Given the description of an element on the screen output the (x, y) to click on. 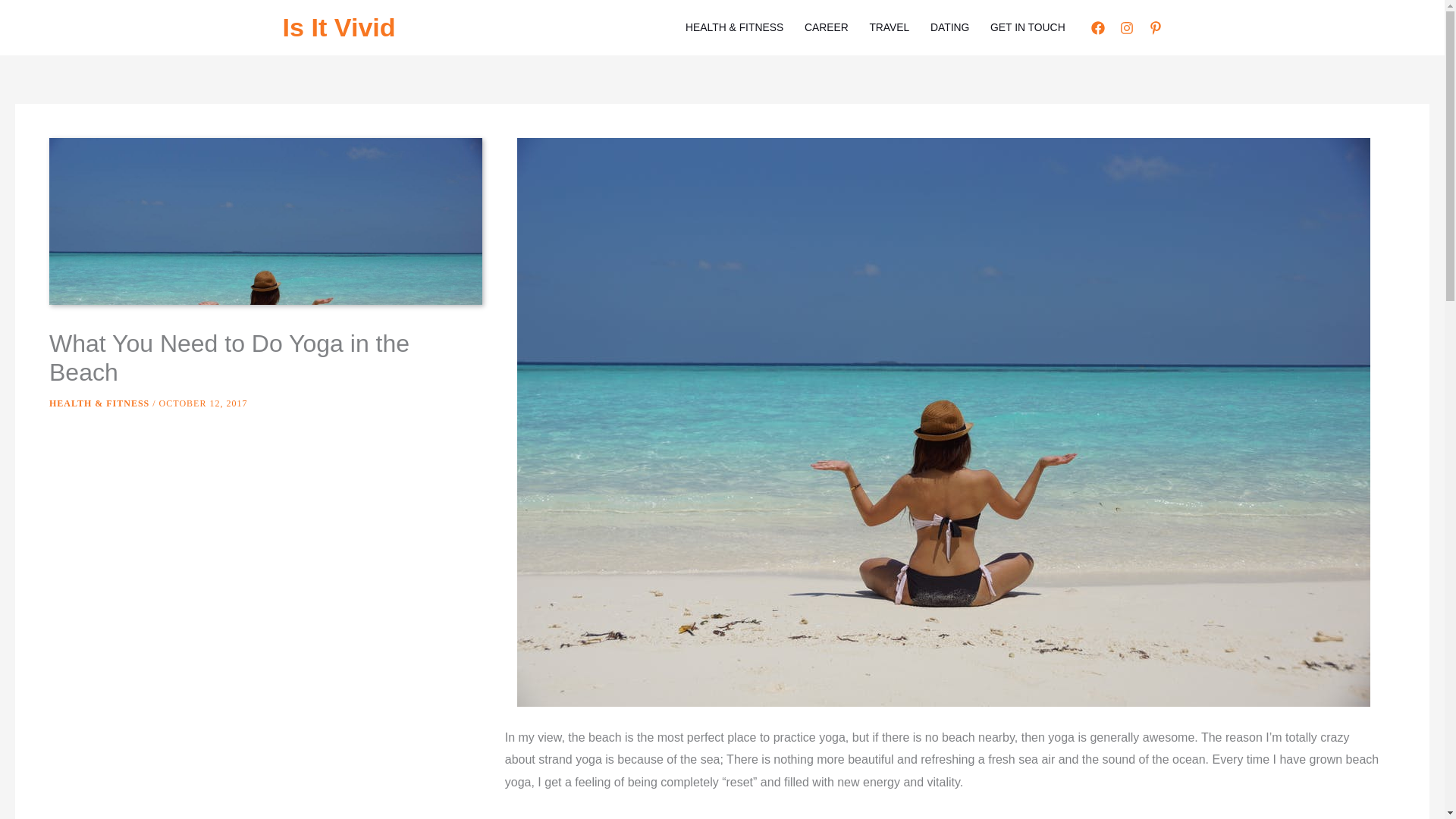
DATING (949, 27)
TRAVEL (889, 27)
Is It Vivid (338, 27)
GET IN TOUCH (1027, 27)
CAREER (826, 27)
